Given the description of an element on the screen output the (x, y) to click on. 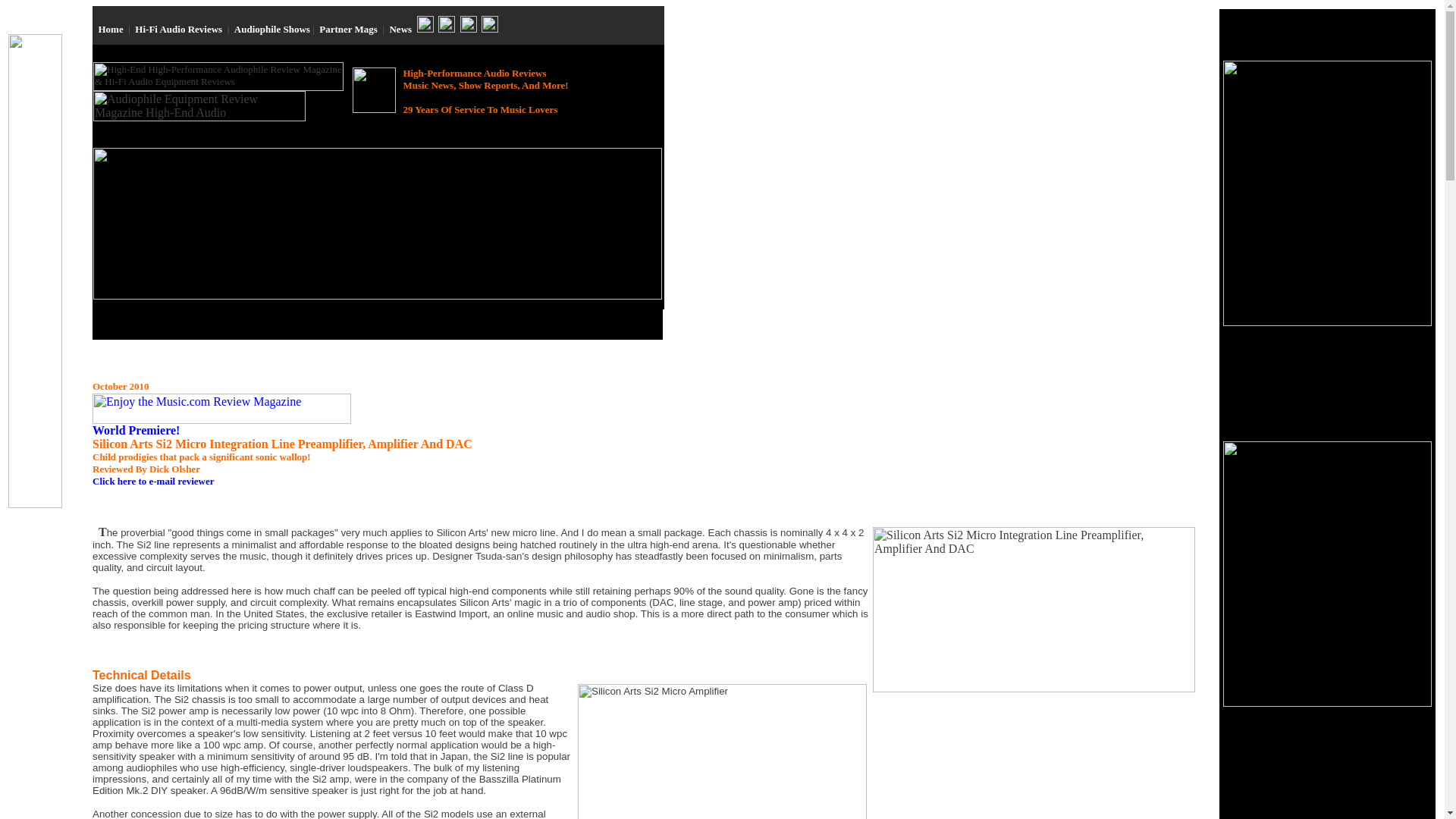
Audiophile Shows (272, 29)
Partner Mags (347, 29)
News (400, 29)
Home (111, 29)
Hi-Fi Audio Reviews (178, 29)
Click here to e-mail reviewer (153, 480)
